Given the description of an element on the screen output the (x, y) to click on. 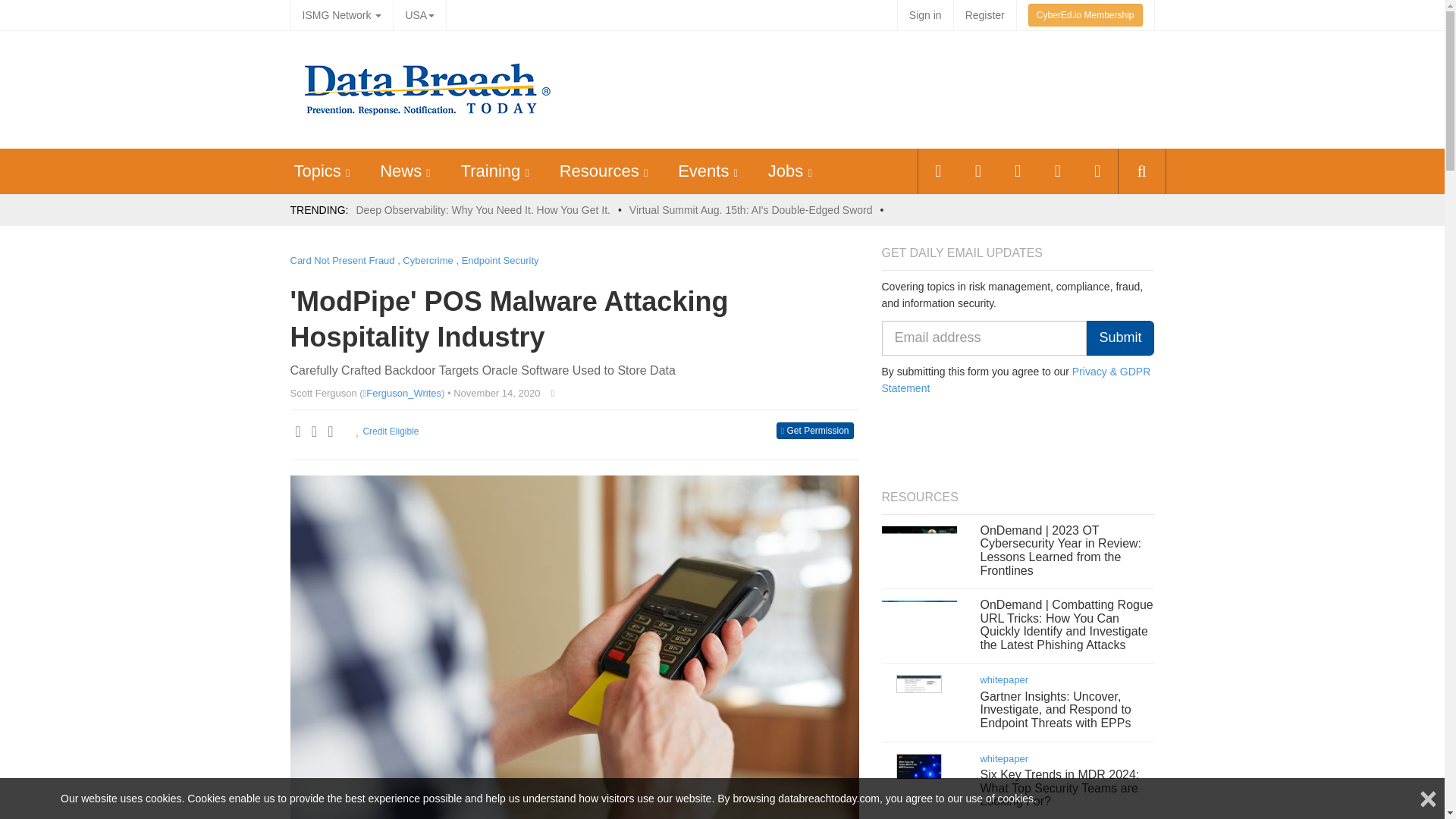
USA (418, 15)
Register (984, 15)
Sign in (925, 15)
CyberEd.io Membership (1084, 15)
Topics (317, 170)
ISMG Network (341, 15)
